Given the description of an element on the screen output the (x, y) to click on. 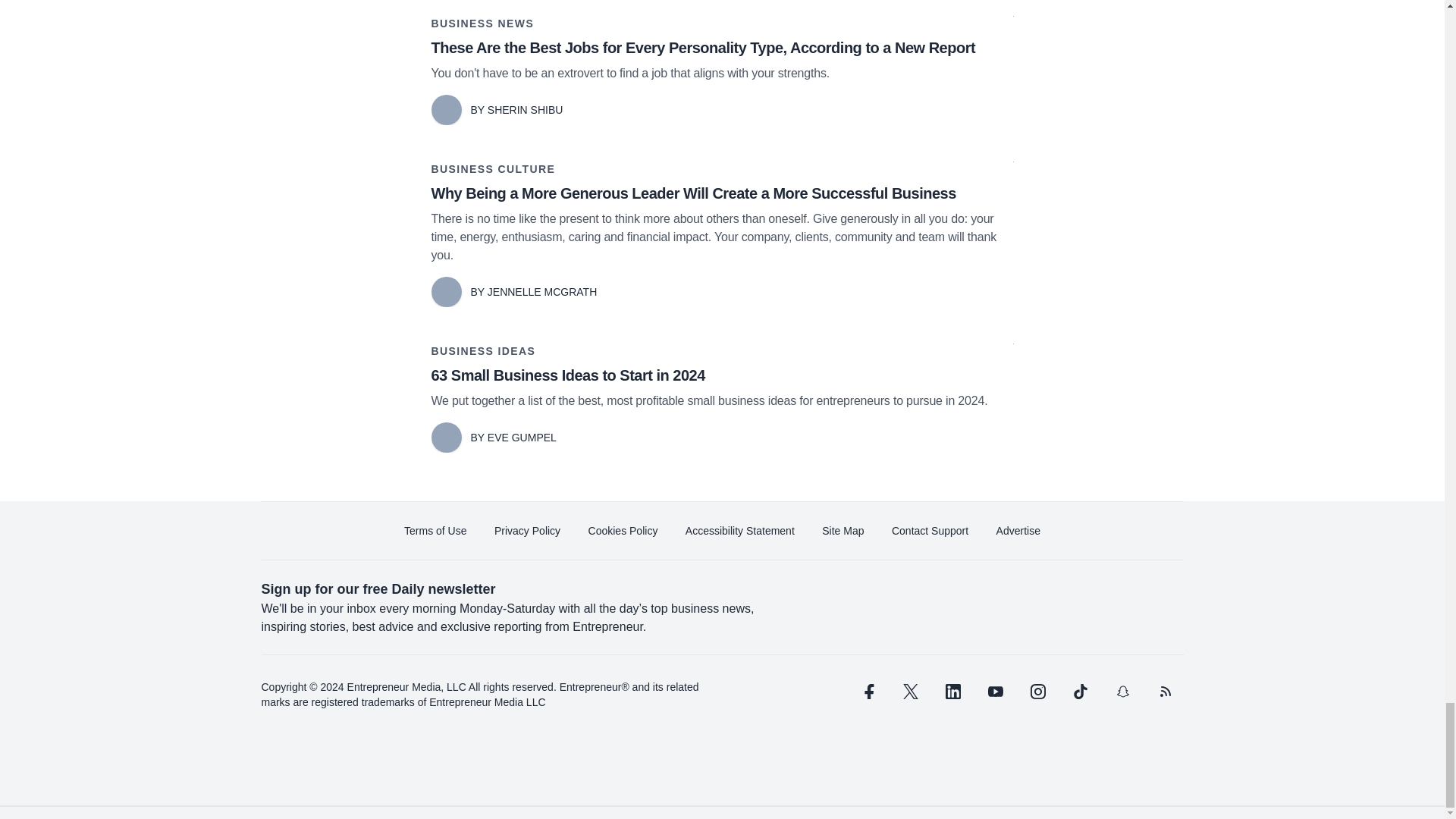
tiktok (1079, 691)
facebook (866, 691)
youtube (994, 691)
instagram (1037, 691)
twitter (909, 691)
linkedin (952, 691)
snapchat (1121, 691)
